Given the description of an element on the screen output the (x, y) to click on. 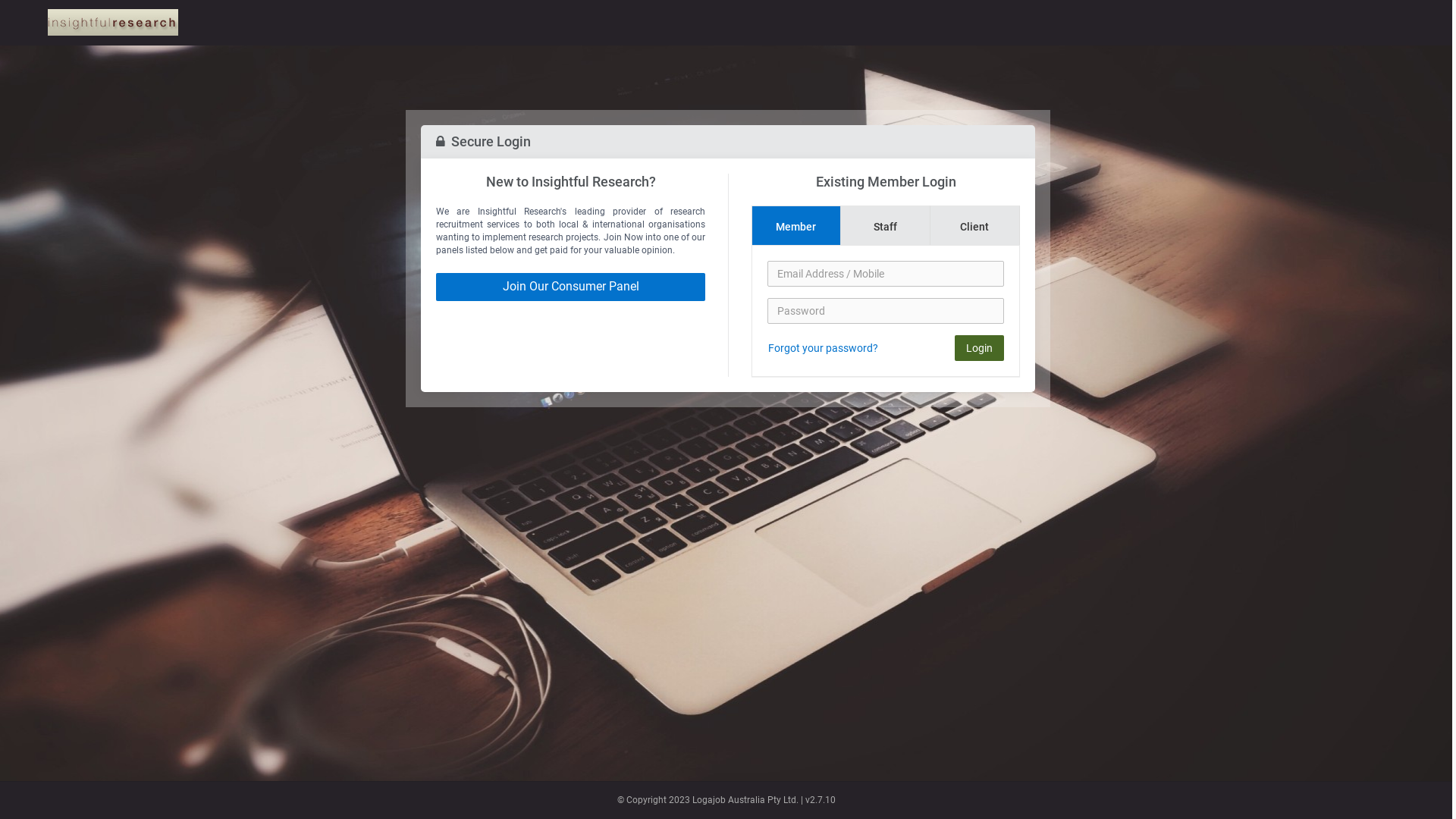
Logo Element type: hover (112, 22)
Staff Element type: text (884, 225)
Join Our Consumer Panel Element type: text (570, 287)
Login Element type: text (979, 347)
Client Element type: text (974, 225)
Member Element type: text (796, 225)
Forgot your password? Element type: text (822, 347)
